Given the description of an element on the screen output the (x, y) to click on. 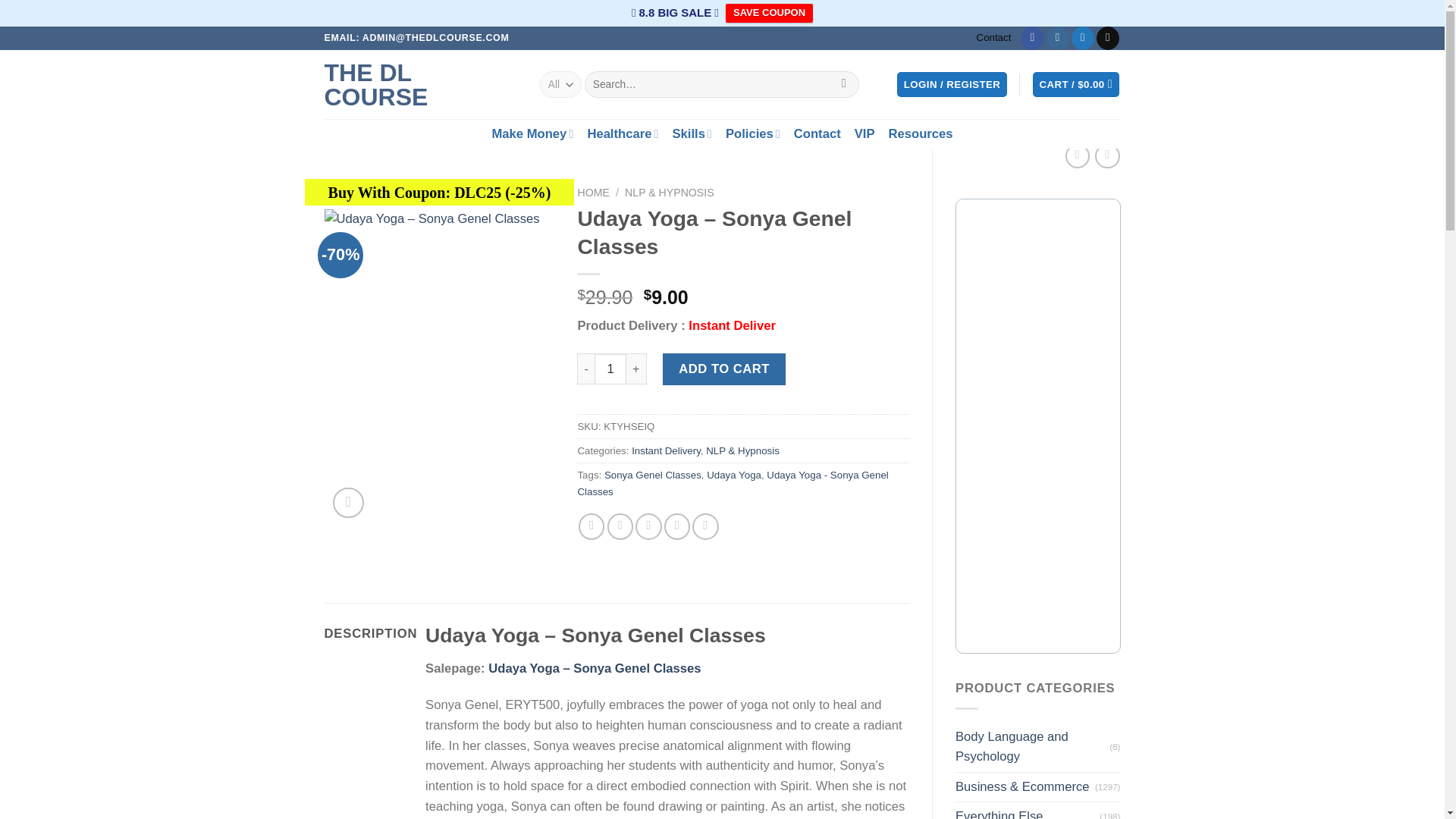
Search (844, 84)
Contact (993, 37)
The DL Course - Download All Courses You Need (420, 84)
Healthcare (622, 133)
Contact (817, 134)
Follow on Twitter (1082, 37)
Make Money (532, 133)
1 (610, 368)
Cart (1075, 84)
Zoom (347, 502)
